Given the description of an element on the screen output the (x, y) to click on. 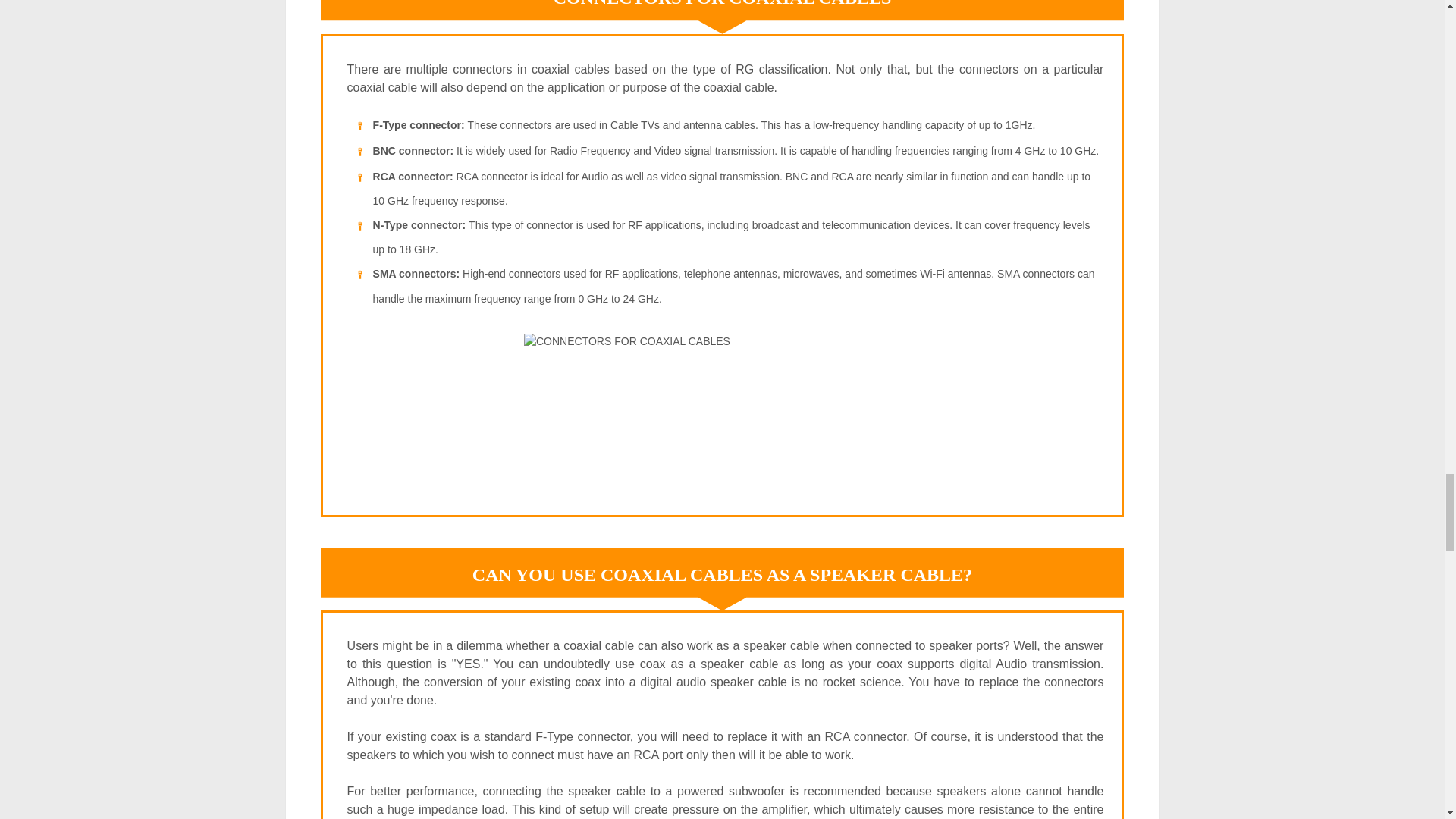
CONNECTORS FOR COAXIAL CABLES (725, 406)
